Given the description of an element on the screen output the (x, y) to click on. 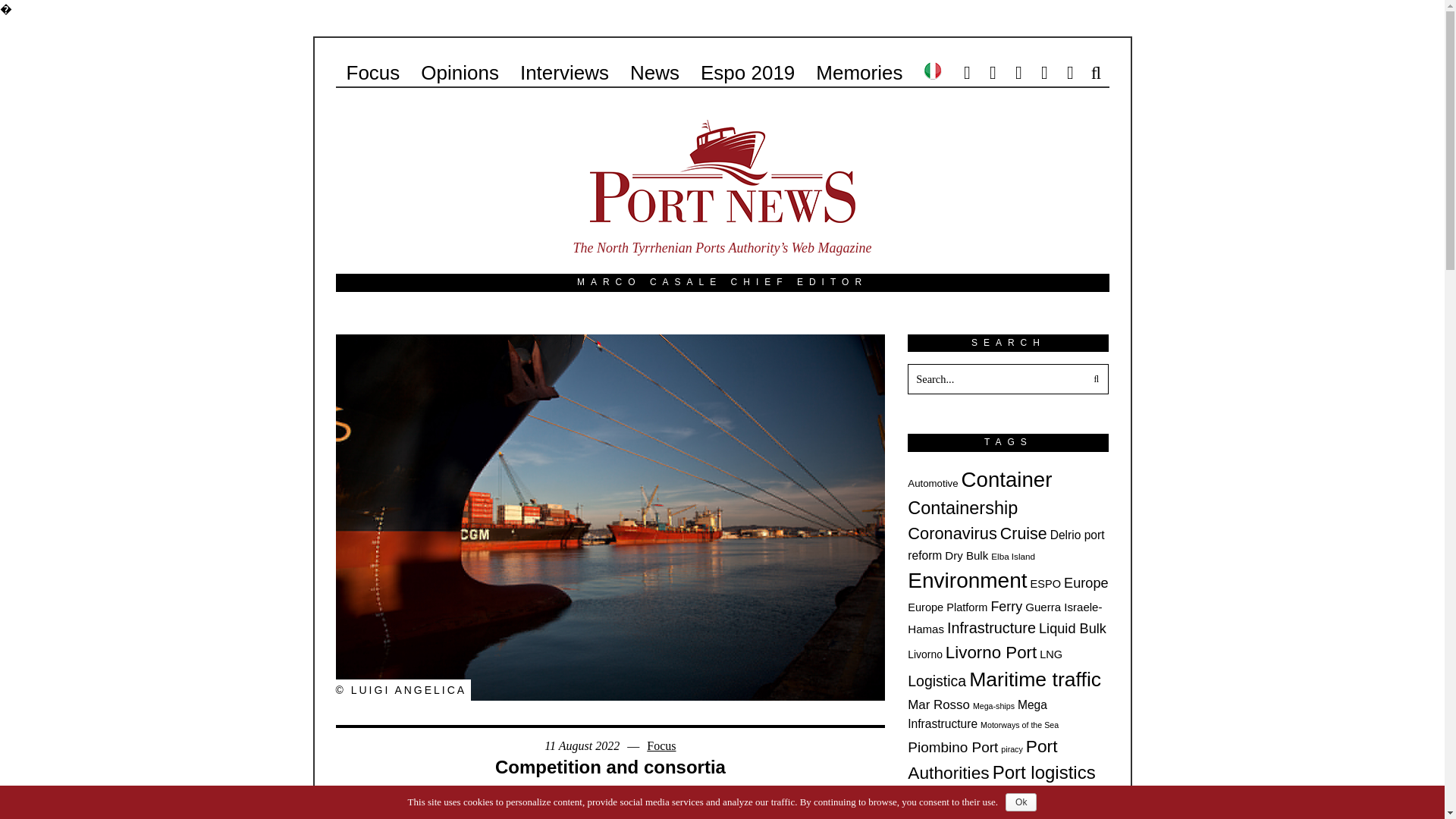
Focus (372, 72)
Memories (858, 72)
Elba Island (1013, 556)
Espo 2019 (747, 72)
Automotive (932, 482)
Environment (966, 580)
Container (1006, 479)
Europe (1086, 582)
Focus (660, 745)
Go (1093, 378)
